Given the description of an element on the screen output the (x, y) to click on. 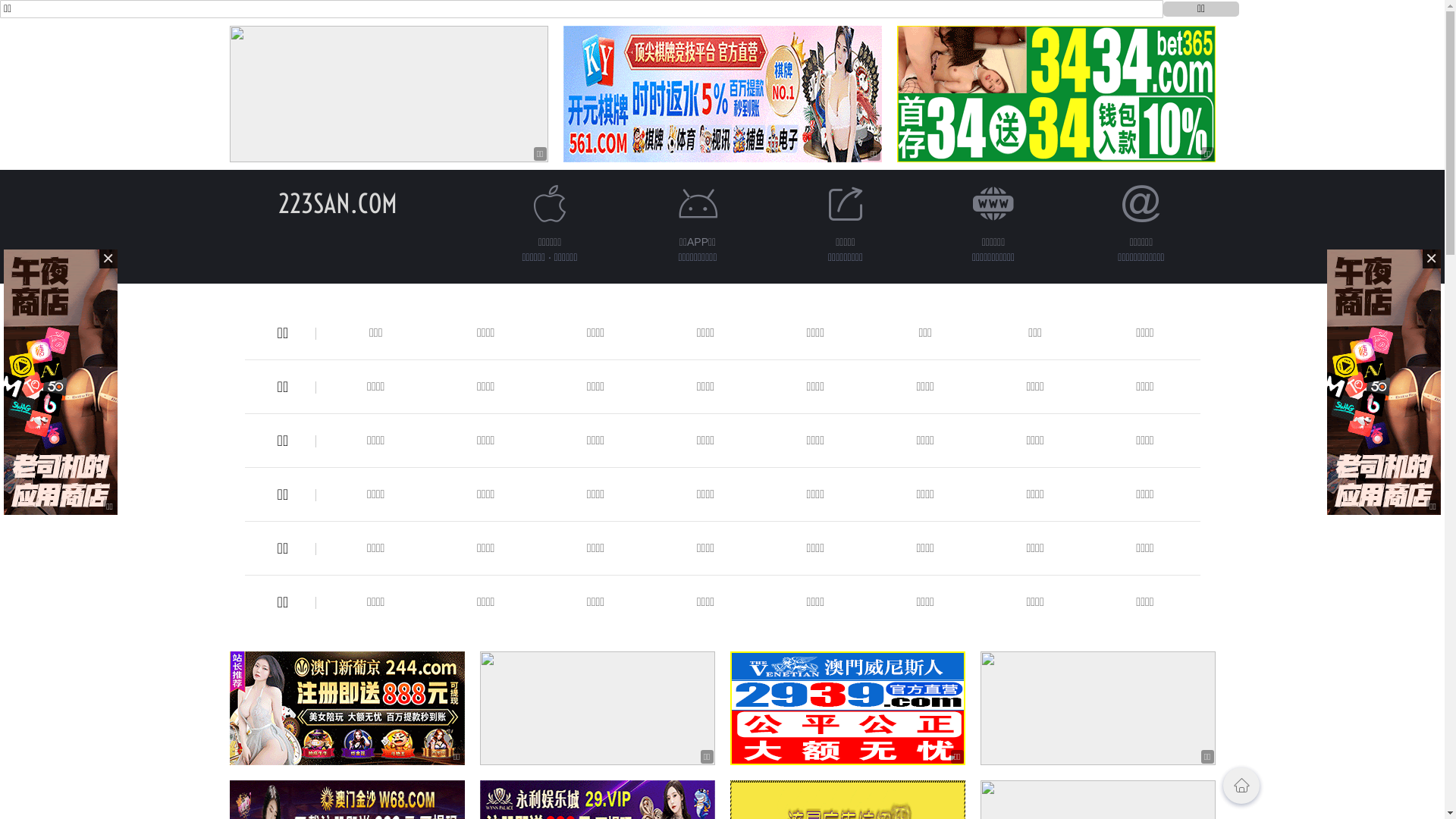
223SAN.COM Element type: text (337, 203)
